Given the description of an element on the screen output the (x, y) to click on. 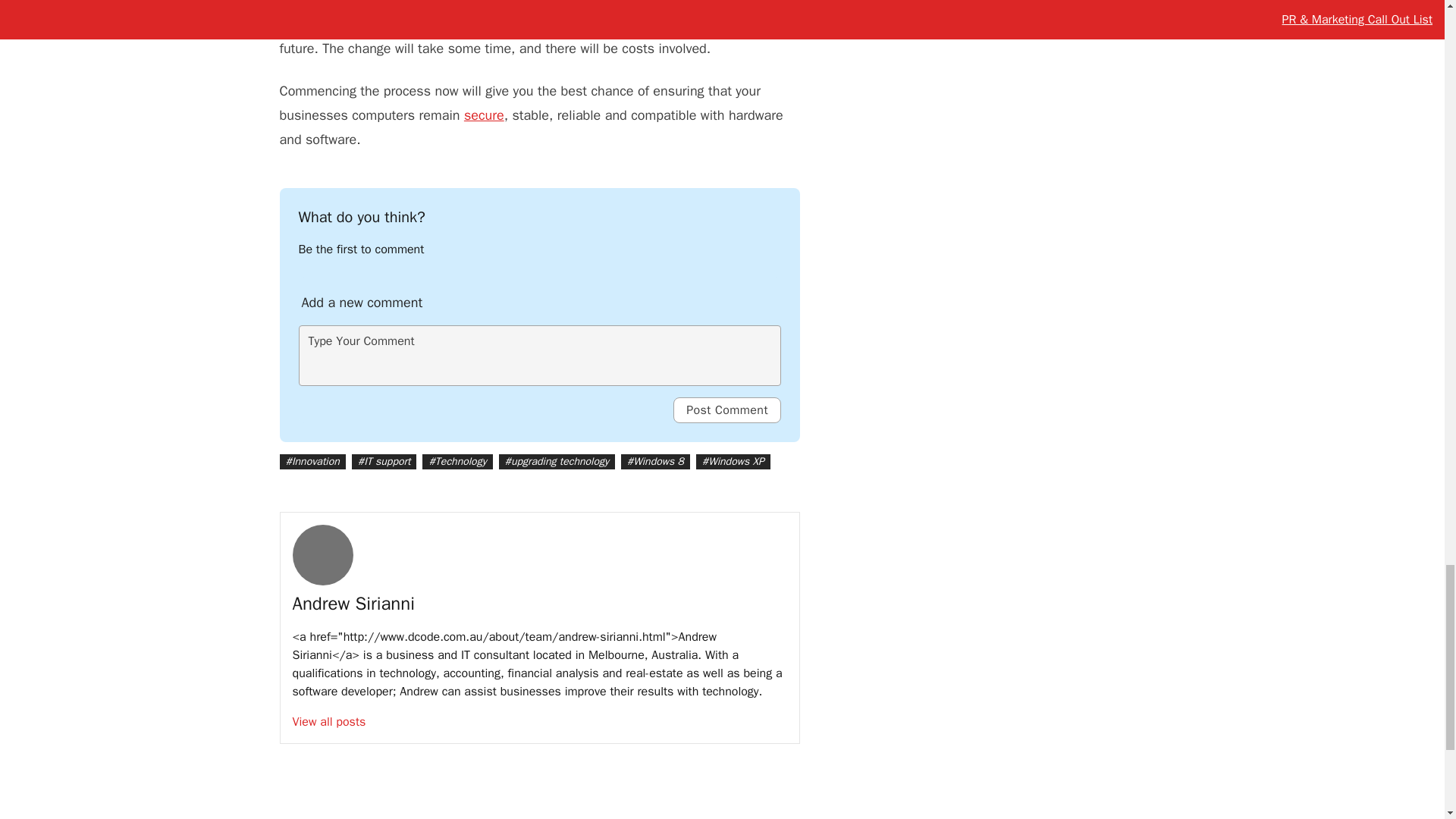
Windows 8 (668, 23)
secure (483, 115)
Post Comment (726, 410)
